Given the description of an element on the screen output the (x, y) to click on. 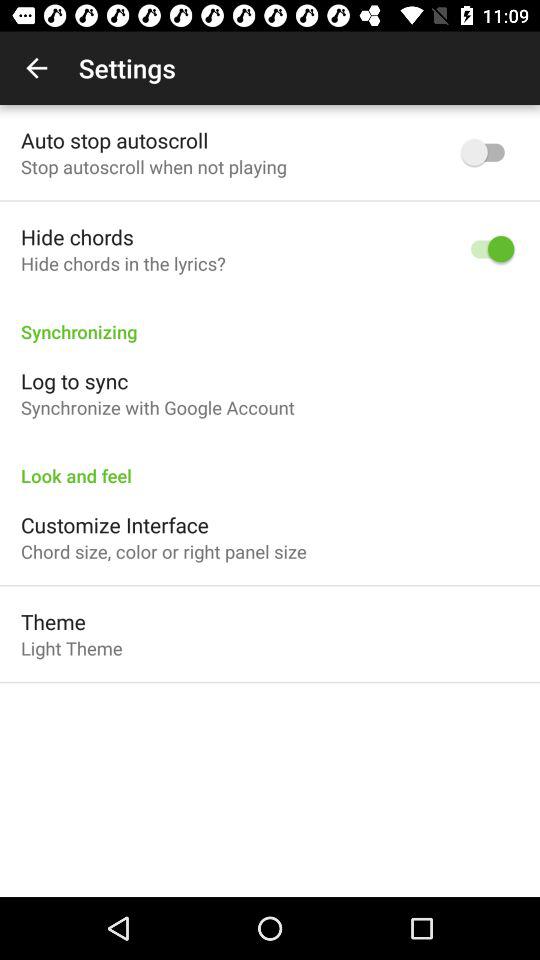
click the item to the left of the settings (36, 68)
